Given the description of an element on the screen output the (x, y) to click on. 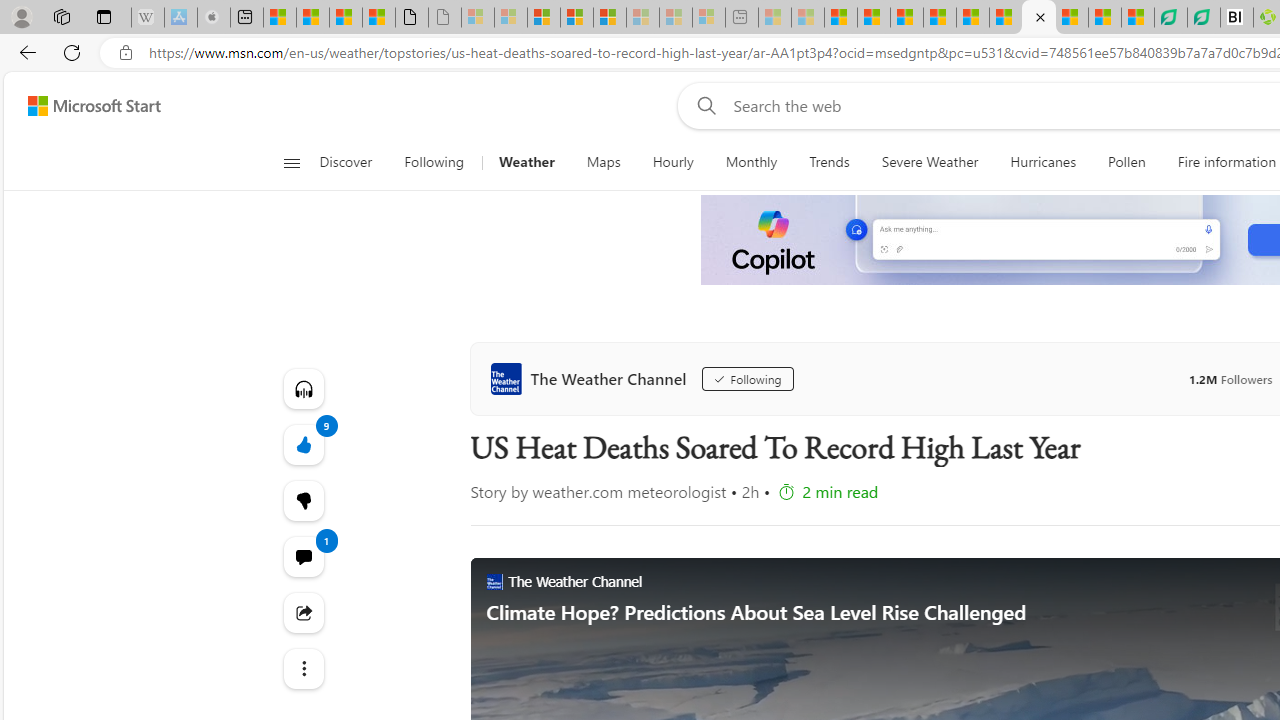
Nvidia va a poner a prueba la paciencia de los inversores (1237, 17)
Food and Drink - MSN (873, 17)
Pollen (1126, 162)
Pollen (1126, 162)
Maps (603, 162)
Top Stories - MSN - Sleeping (775, 17)
Drinking tea every day is proven to delay biological aging (940, 17)
